Given the description of an element on the screen output the (x, y) to click on. 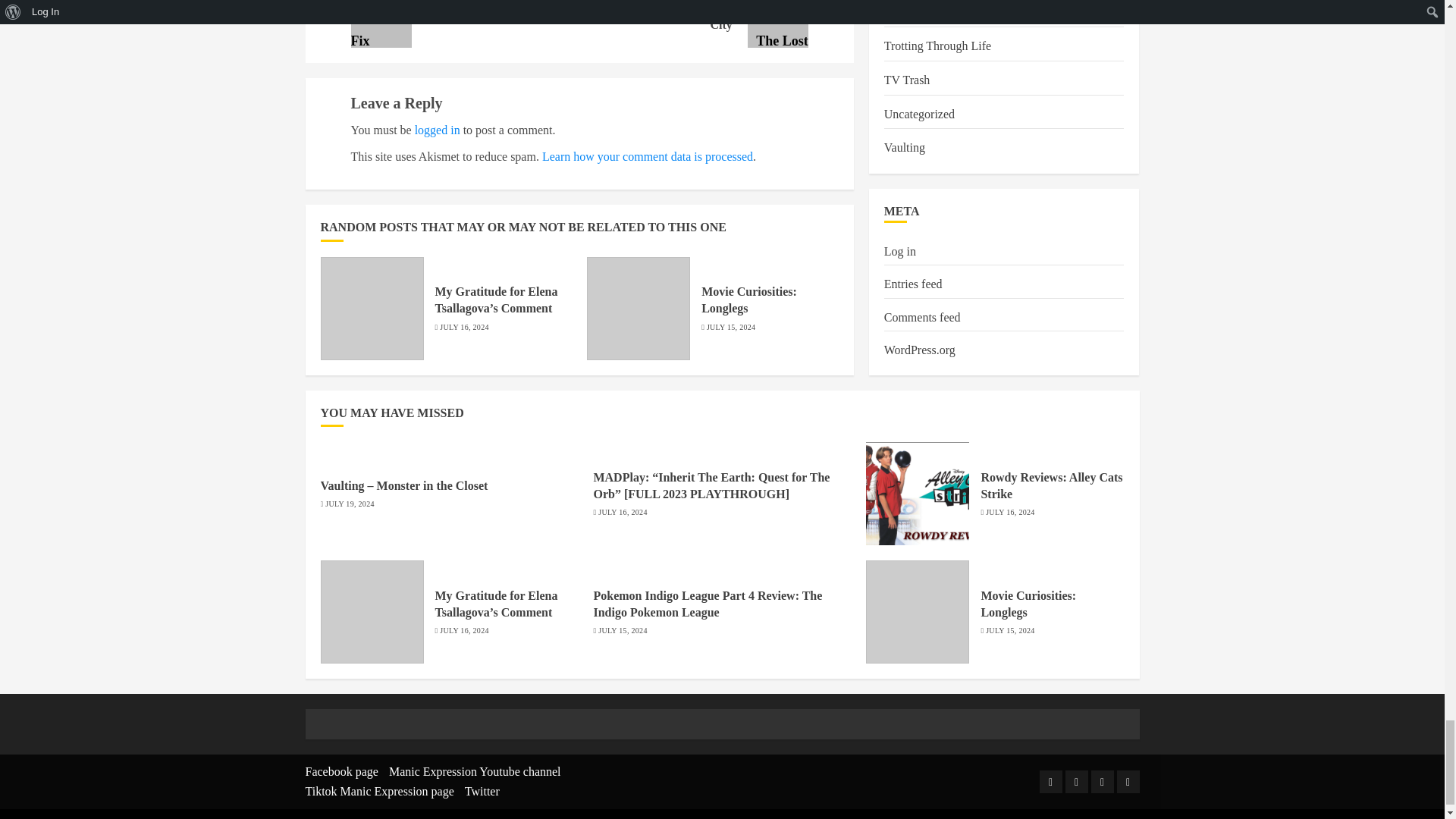
Movie Curiosities: The Lost City (778, 23)
How I Would Fix Ayame (380, 23)
